Given the description of an element on the screen output the (x, y) to click on. 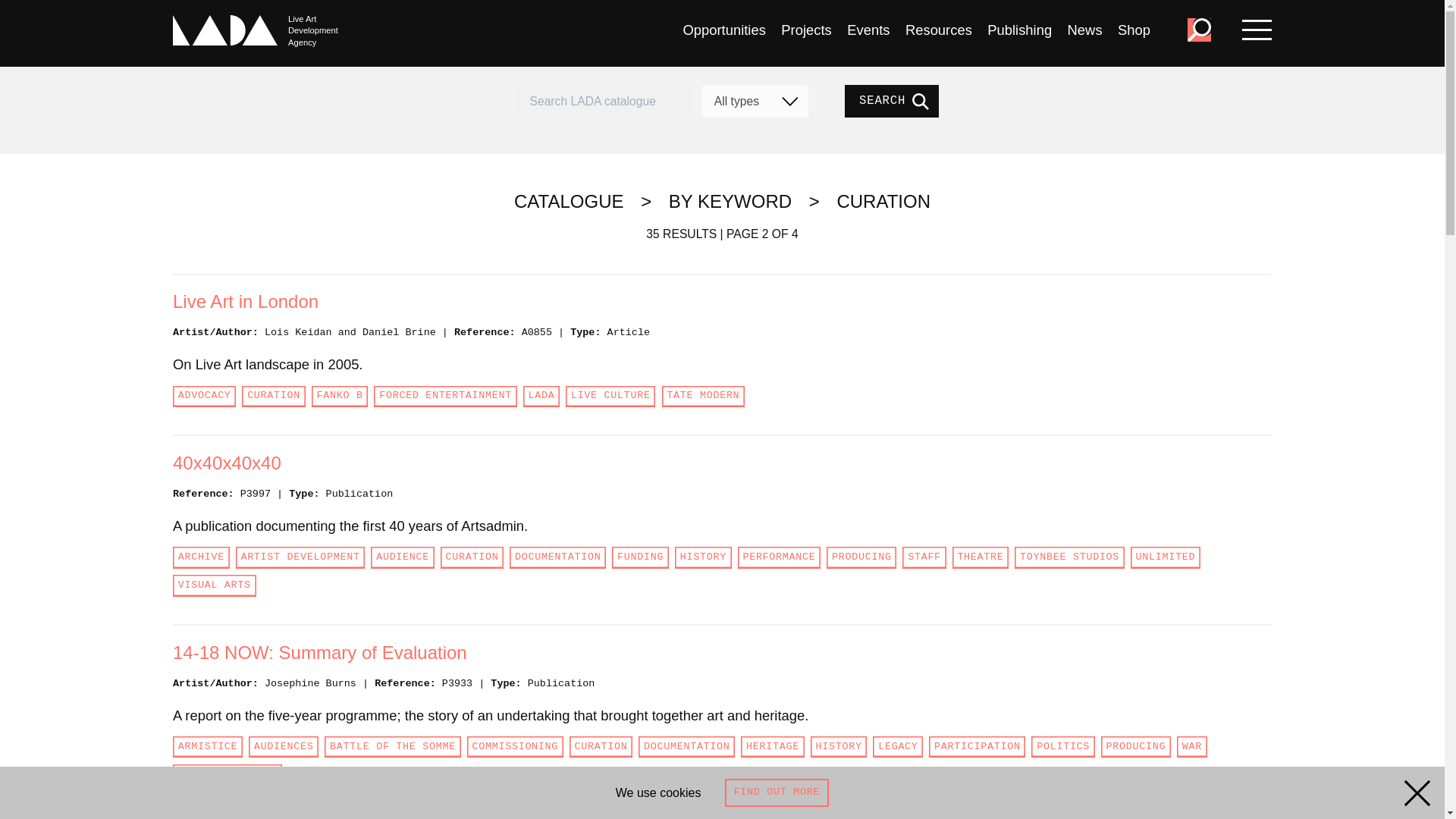
Resources (938, 29)
News (1084, 29)
Publishing (1019, 29)
Opportunities (723, 29)
FIND OUT MORE (776, 792)
Events (868, 29)
Projects (805, 29)
Shop (1134, 29)
